Given the description of an element on the screen output the (x, y) to click on. 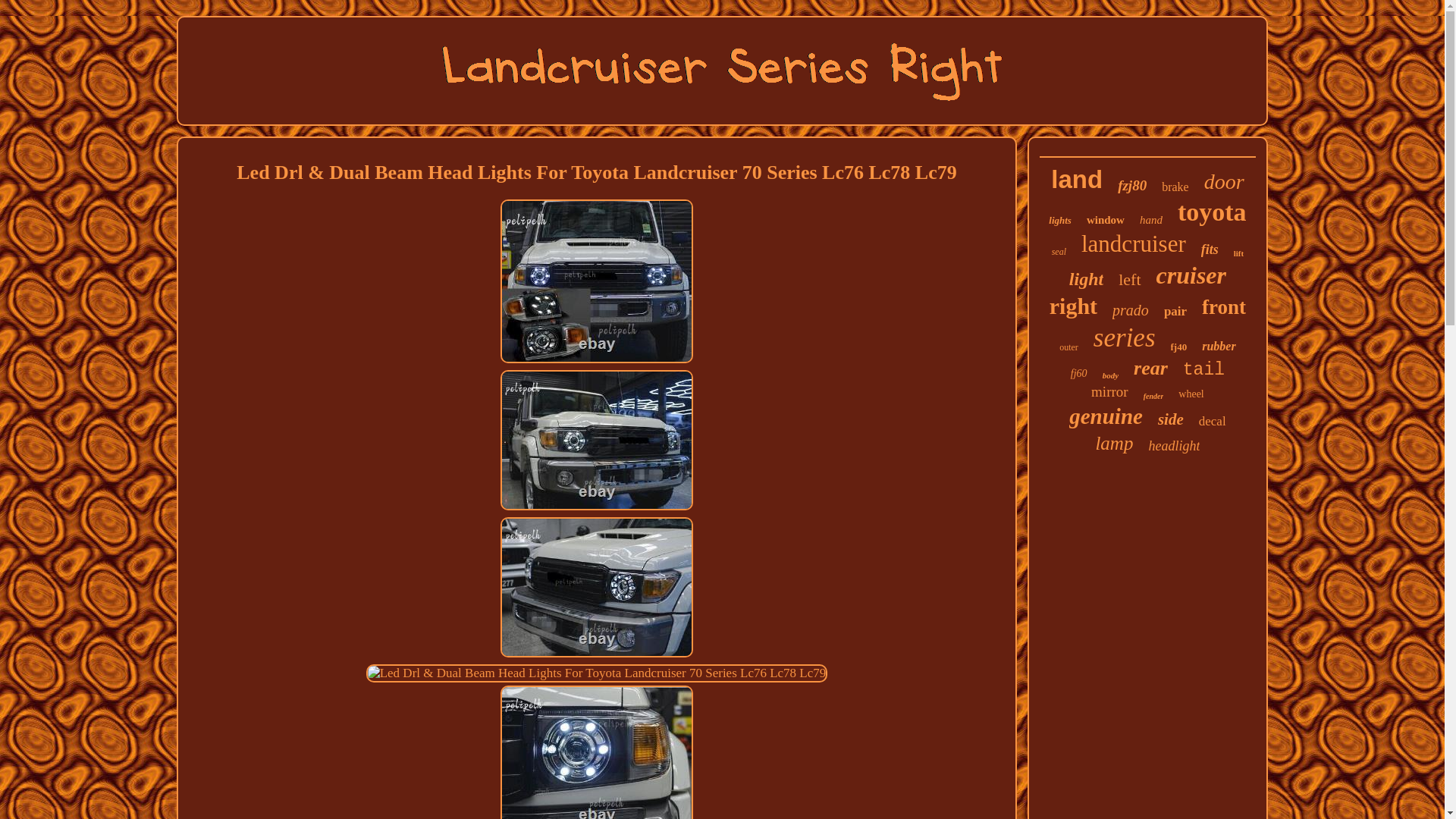
outer (1068, 347)
series (1124, 337)
rear (1150, 368)
land (1076, 179)
light (1085, 279)
window (1105, 219)
prado (1130, 310)
tail (1203, 370)
fits (1209, 249)
body (1110, 375)
